Given the description of an element on the screen output the (x, y) to click on. 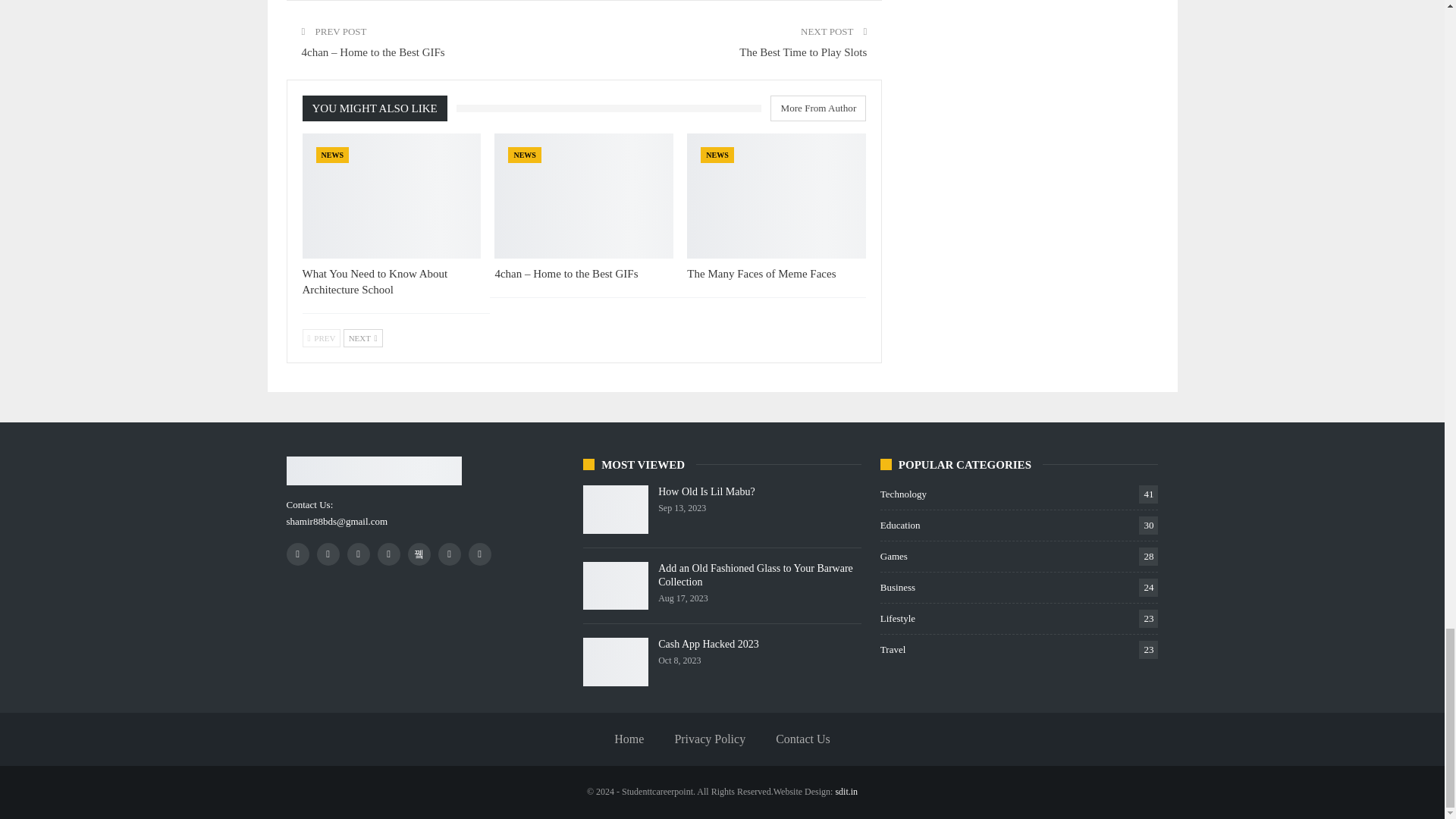
The Many Faces of Meme Faces (776, 195)
What You Need to Know About Architecture School (390, 195)
What You Need to Know About Architecture School (373, 281)
